Given the description of an element on the screen output the (x, y) to click on. 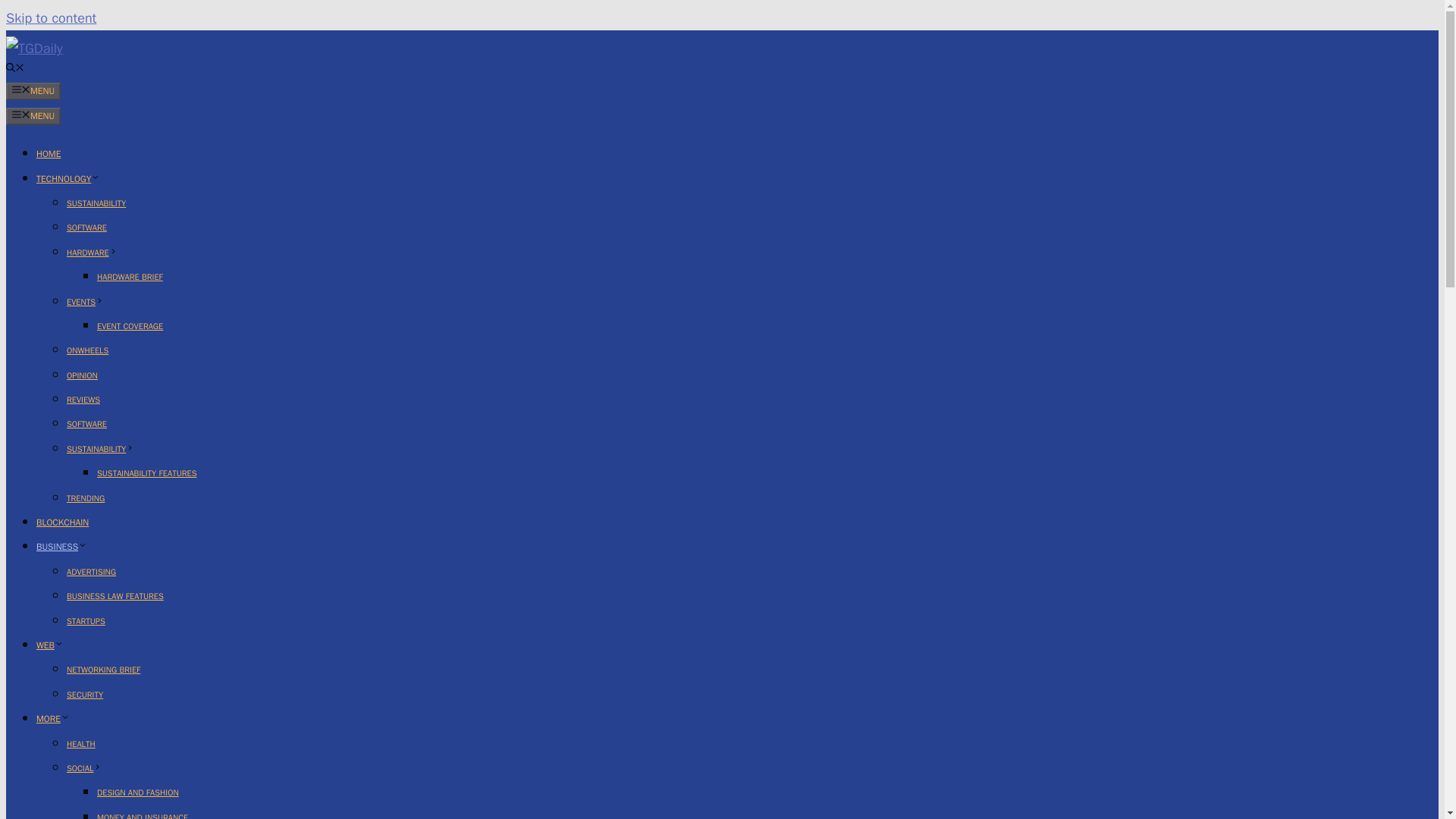
SECURITY (84, 694)
SUSTAINABILITY (95, 203)
SOCIAL (83, 767)
Skip to content (50, 17)
DESIGN AND FASHION (138, 792)
BUSINESS (61, 546)
SUSTAINABILITY (99, 448)
TECHNOLOGY (68, 178)
MENU (33, 90)
HARDWARE (91, 252)
WEB (50, 645)
MONEY AND INSURANCE (142, 815)
TRENDING (85, 498)
NETWORKING BRIEF (102, 669)
REVIEWS (83, 398)
